Given the description of an element on the screen output the (x, y) to click on. 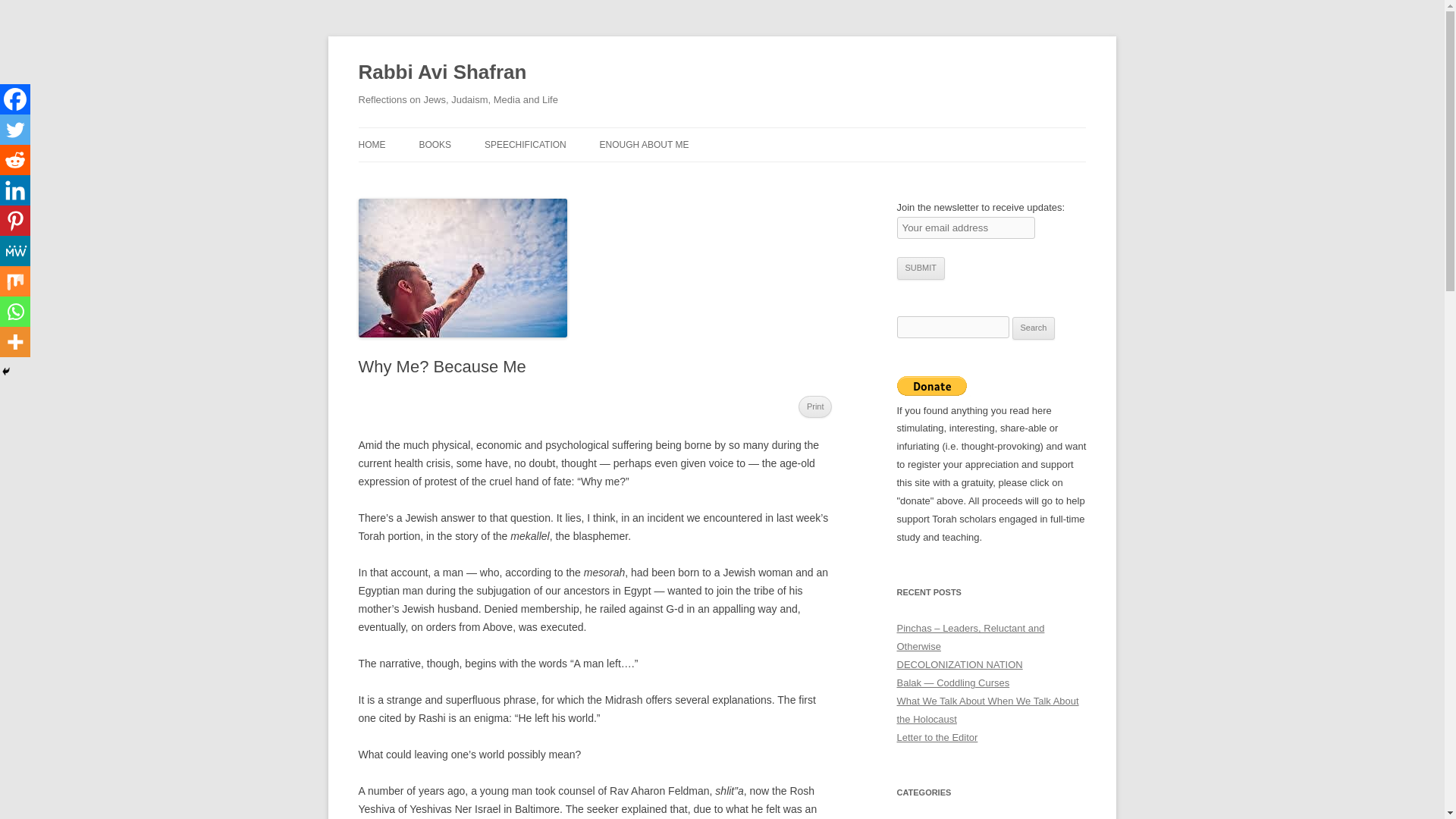
Print (814, 406)
BOOKS (435, 144)
SPEECHIFICATION (525, 144)
SUBMIT (920, 268)
Letter to the Editor (936, 737)
SUBMIT (920, 268)
MeWe (15, 250)
Mix (15, 281)
DECOLONIZATION NATION (959, 664)
Search (1033, 327)
Whatsapp (15, 311)
What We Talk About When We Talk About the Holocaust (987, 709)
ENOUGH ABOUT ME (643, 144)
Pinterest (15, 220)
